Given the description of an element on the screen output the (x, y) to click on. 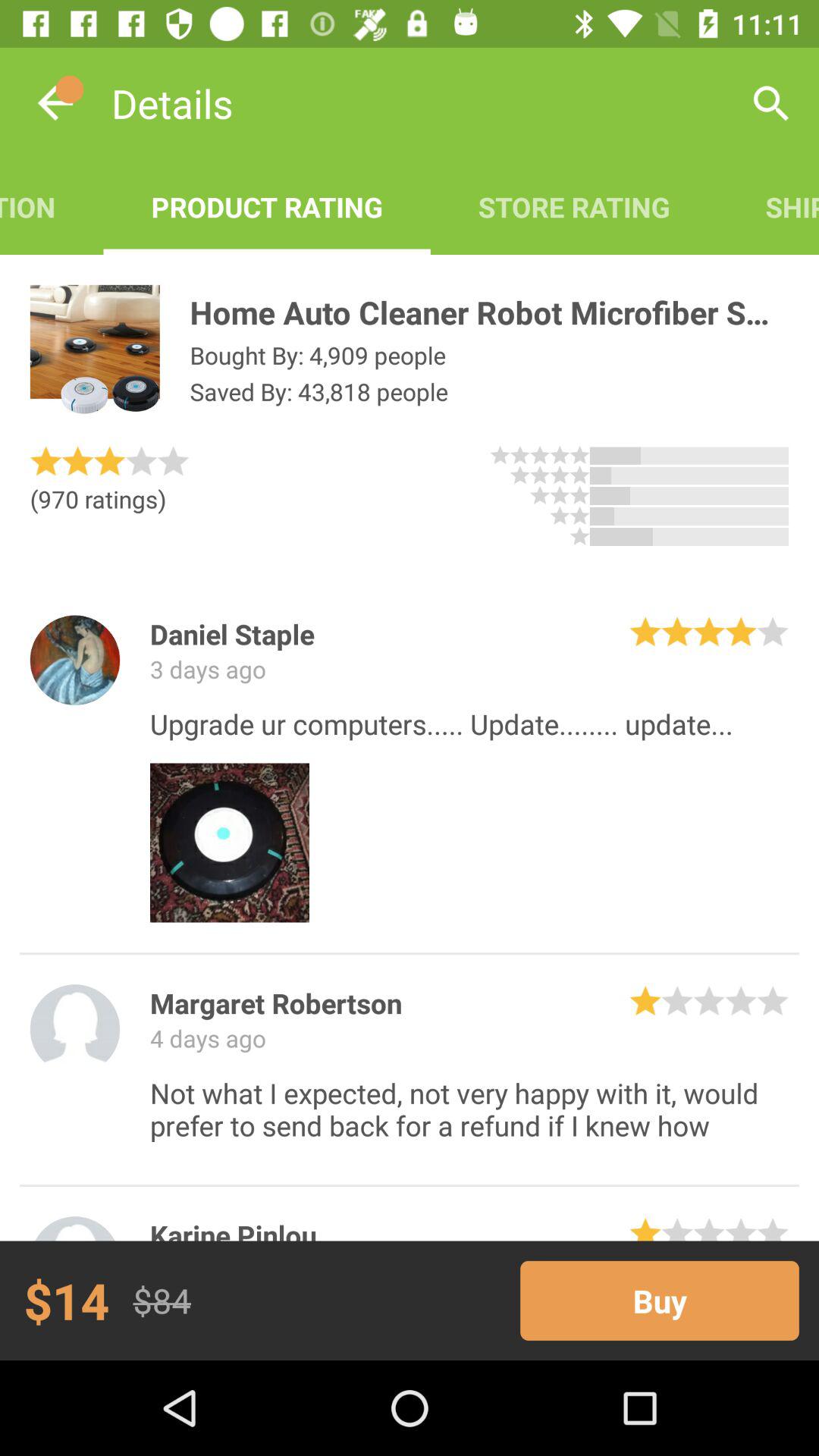
click the item next to the details item (55, 103)
